Given the description of an element on the screen output the (x, y) to click on. 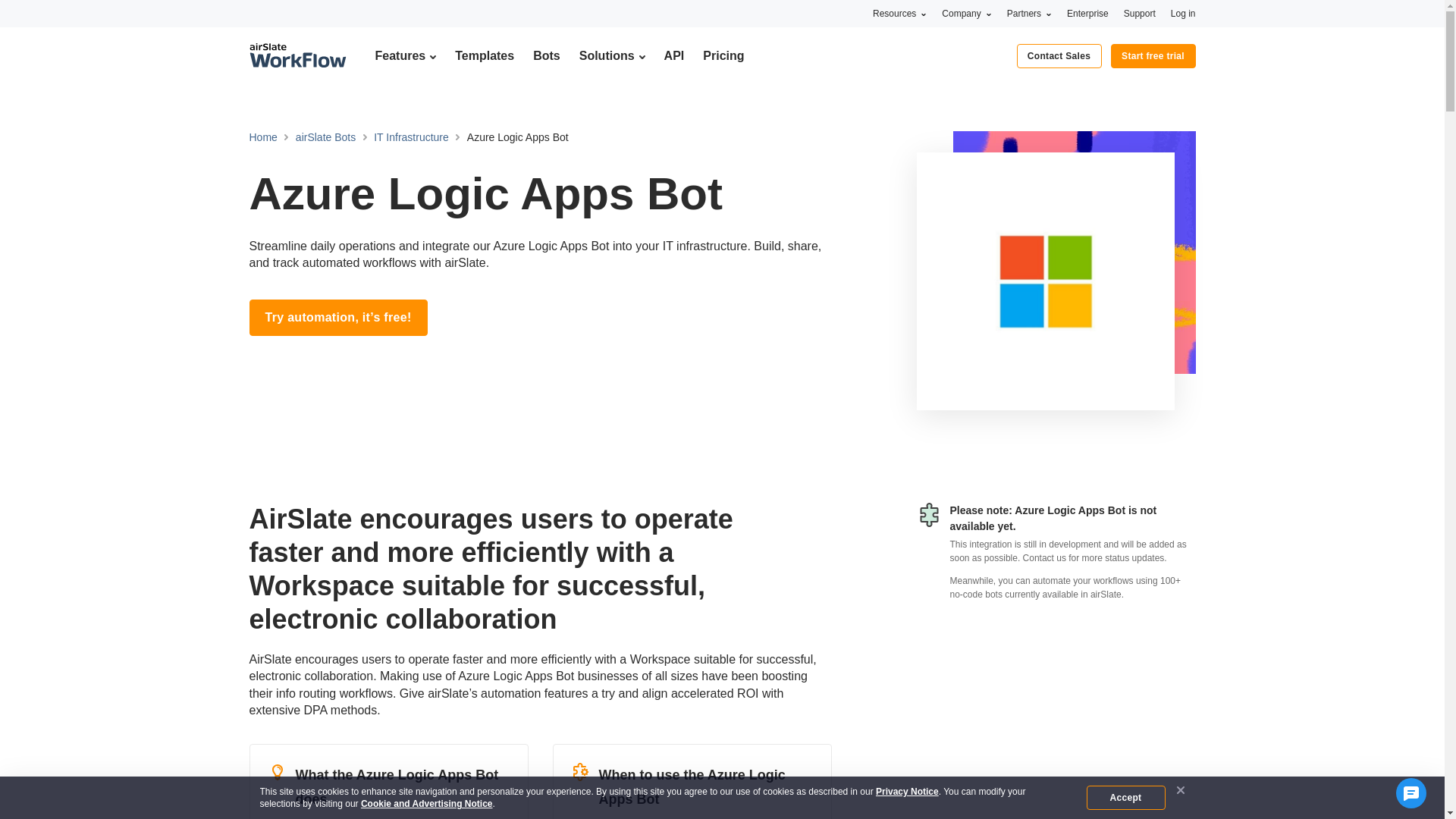
Partners (1029, 13)
Enterprise (1087, 13)
Company (966, 13)
Log in (1182, 13)
Support (1140, 13)
Templates (483, 55)
Resources (899, 13)
